Given the description of an element on the screen output the (x, y) to click on. 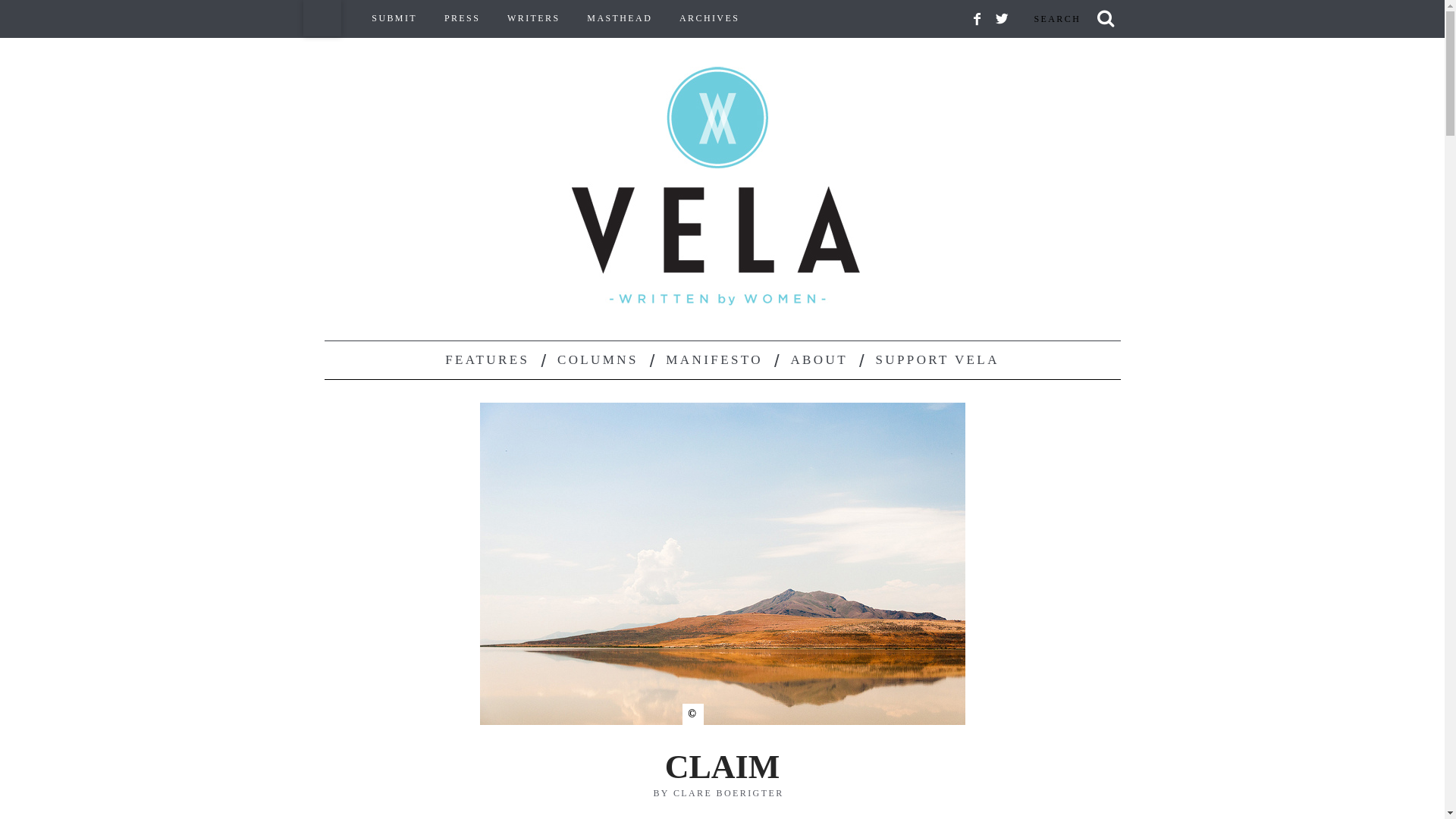
SUBMIT (393, 18)
PRESS (462, 18)
ARCHIVES (709, 18)
COLUMNS (597, 360)
HOME (321, 18)
WRITERS (533, 18)
MASTHEAD (619, 18)
FEATURES (486, 360)
Search (1071, 18)
